Given the description of an element on the screen output the (x, y) to click on. 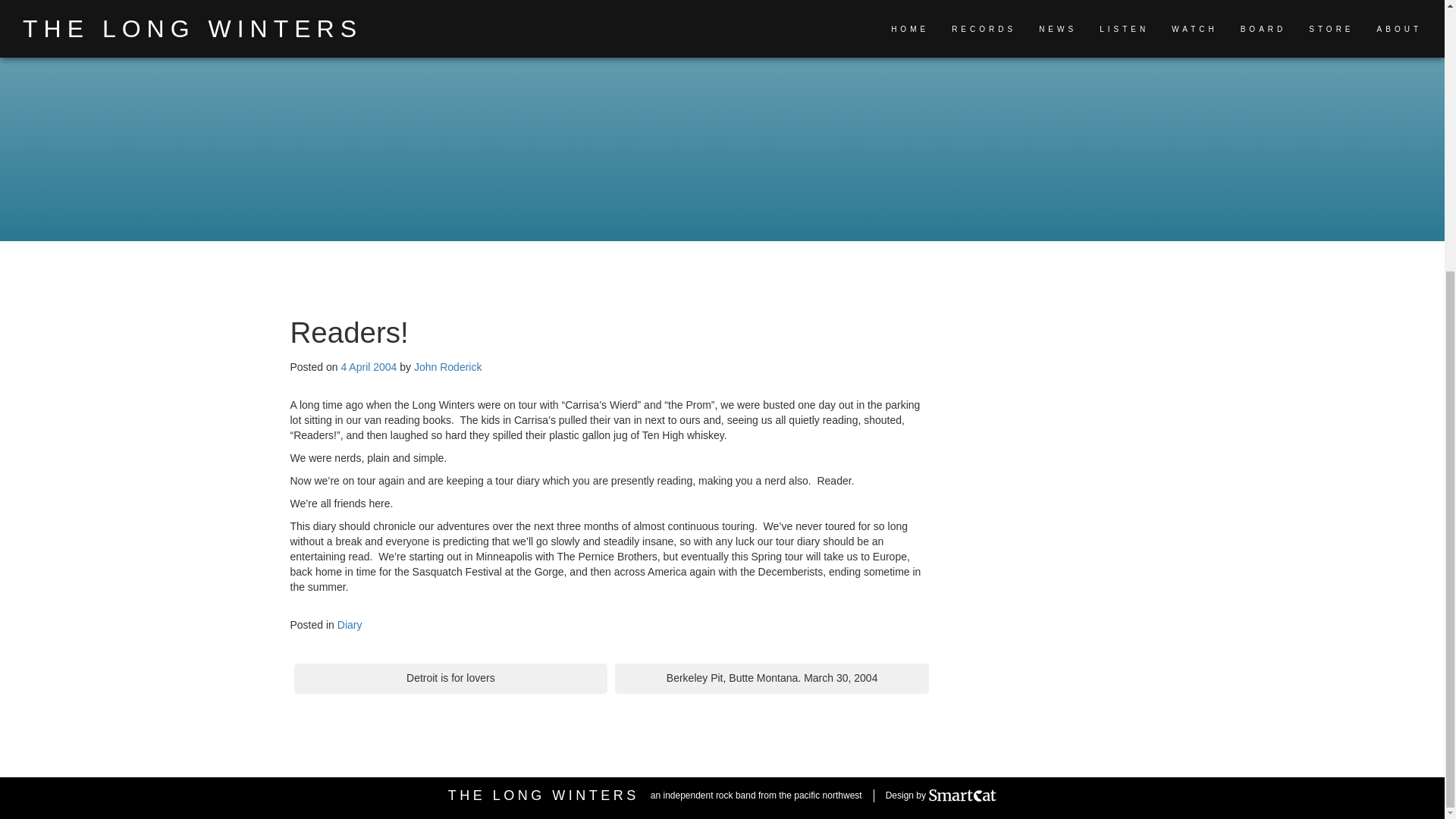
John Roderick (447, 367)
Diary (349, 624)
4 April 2004 (368, 367)
Berkeley Pit, Butte Montana. March 30, 2004 (771, 678)
Detroit is for lovers (451, 678)
